Given the description of an element on the screen output the (x, y) to click on. 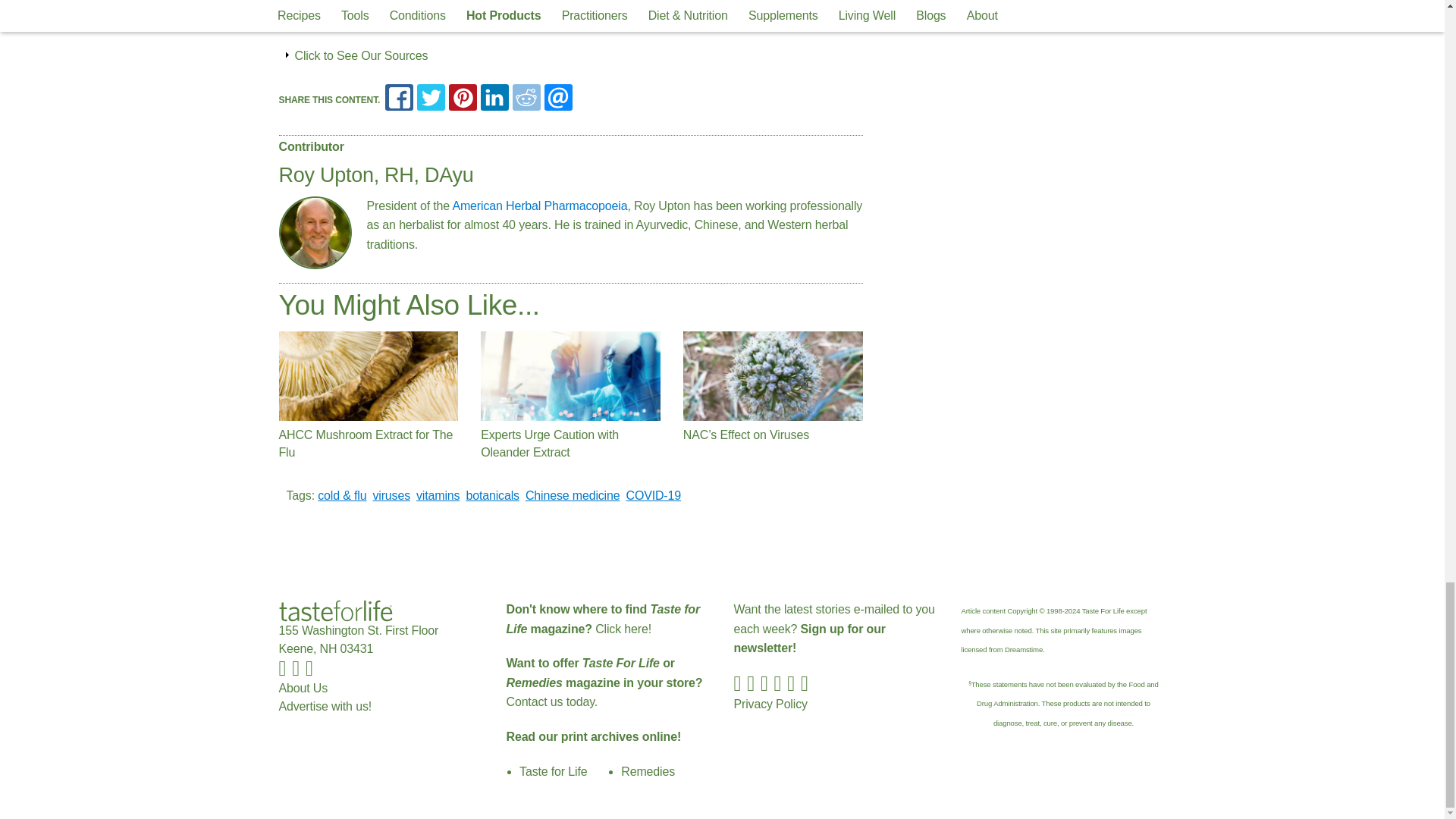
Experts Urge Caution with Oleander Extract (570, 375)
AHCC Mushroom Extract for The Flu (368, 375)
tfl-roy-upton-immune-defense.pdf (418, 16)
